Given the description of an element on the screen output the (x, y) to click on. 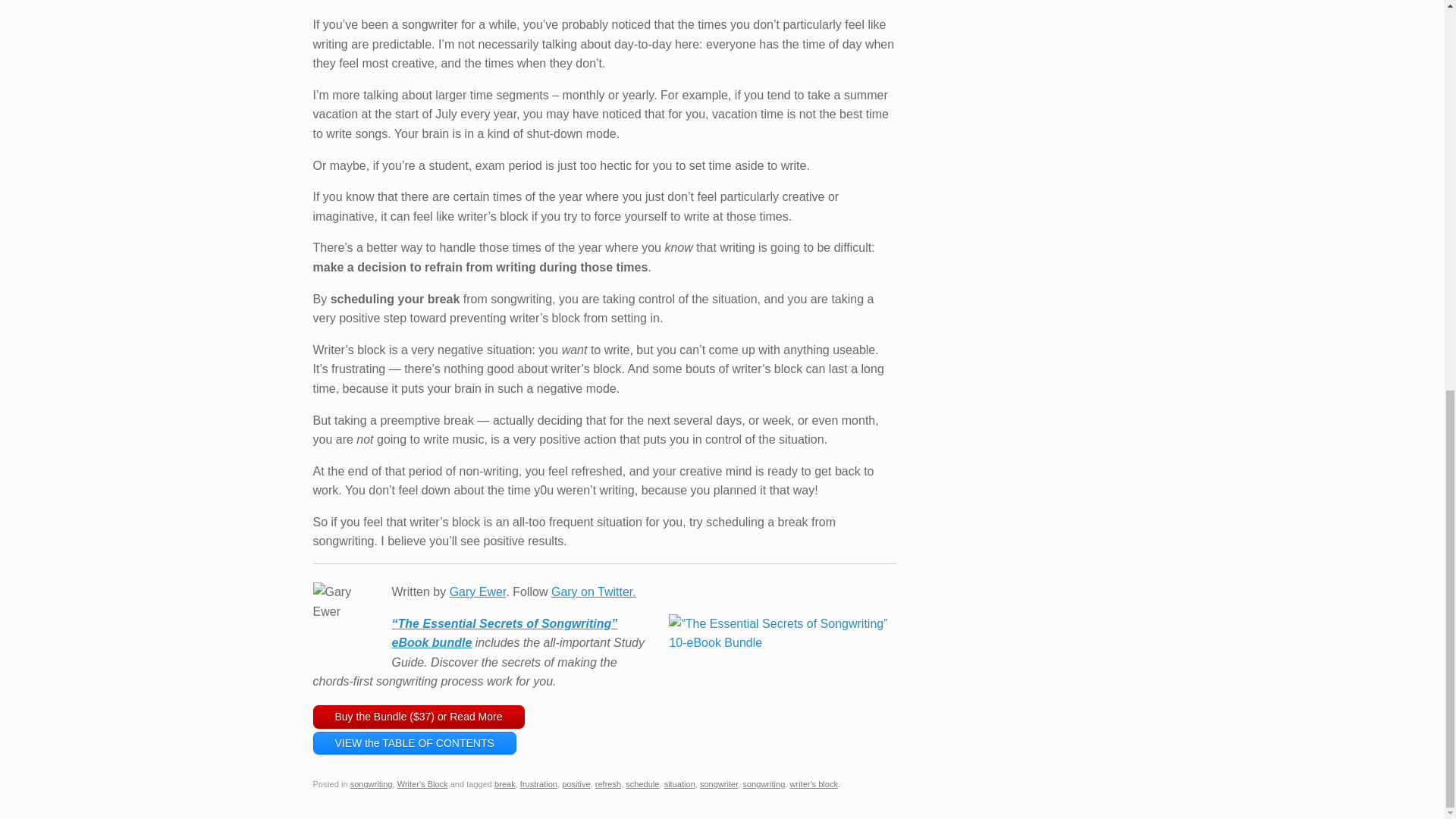
VIEW the TABLE OF CONTENTS (414, 743)
schedule (642, 783)
Writer's Block (422, 783)
The Essential Secrets of Songwriting online store (418, 716)
writer's block (813, 783)
positive (575, 783)
situation (679, 783)
Gary Ewer (477, 591)
songwriter (719, 783)
songwriting (763, 783)
Gary on Twitter. (593, 591)
frustration (538, 783)
refresh (608, 783)
break (505, 783)
songwriting (371, 783)
